Given the description of an element on the screen output the (x, y) to click on. 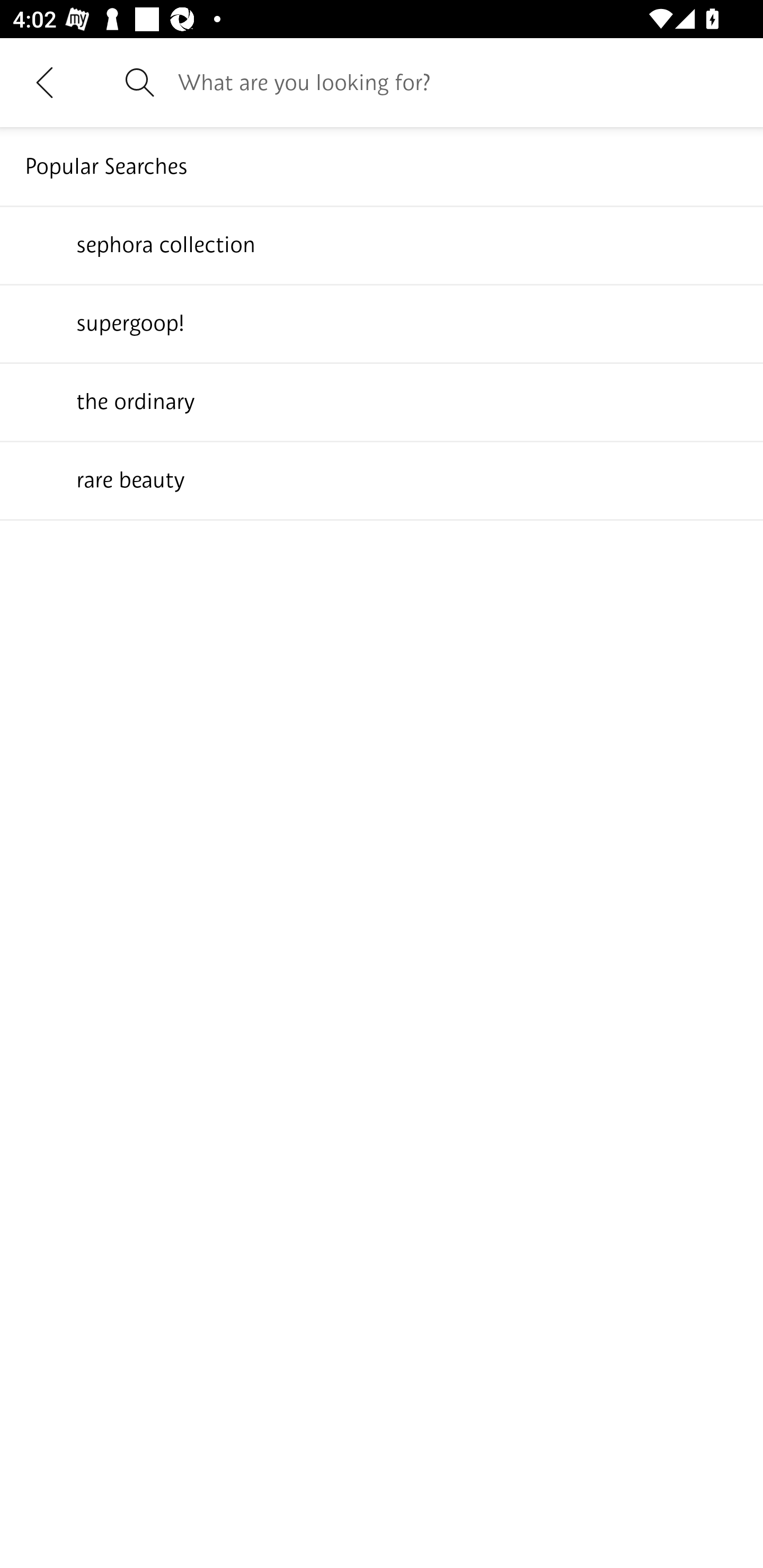
Navigate up (44, 82)
What are you looking for? (457, 82)
sephora collection (381, 244)
supergoop! (381, 322)
the ordinary (381, 401)
rare beauty (381, 479)
